Given the description of an element on the screen output the (x, y) to click on. 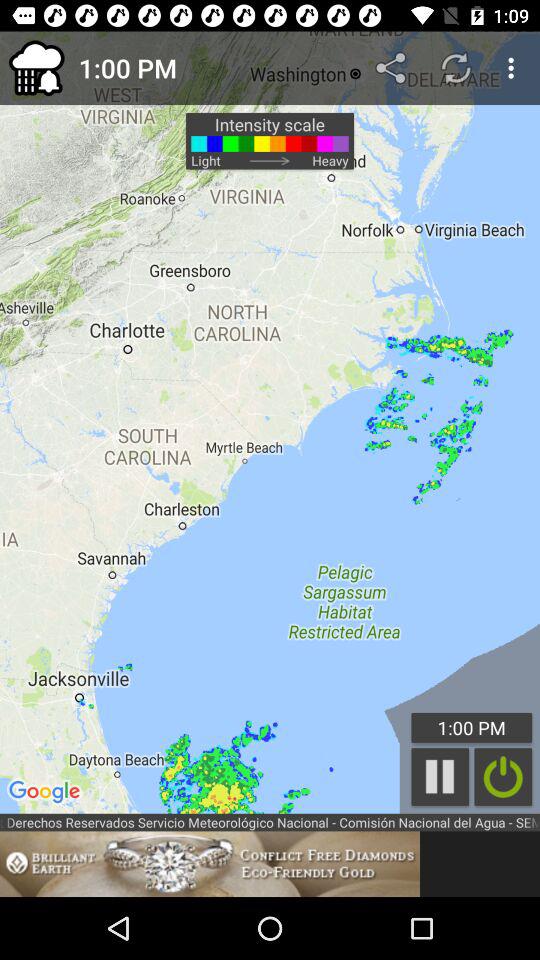
turn on the item above the national weather service item (440, 776)
